Given the description of an element on the screen output the (x, y) to click on. 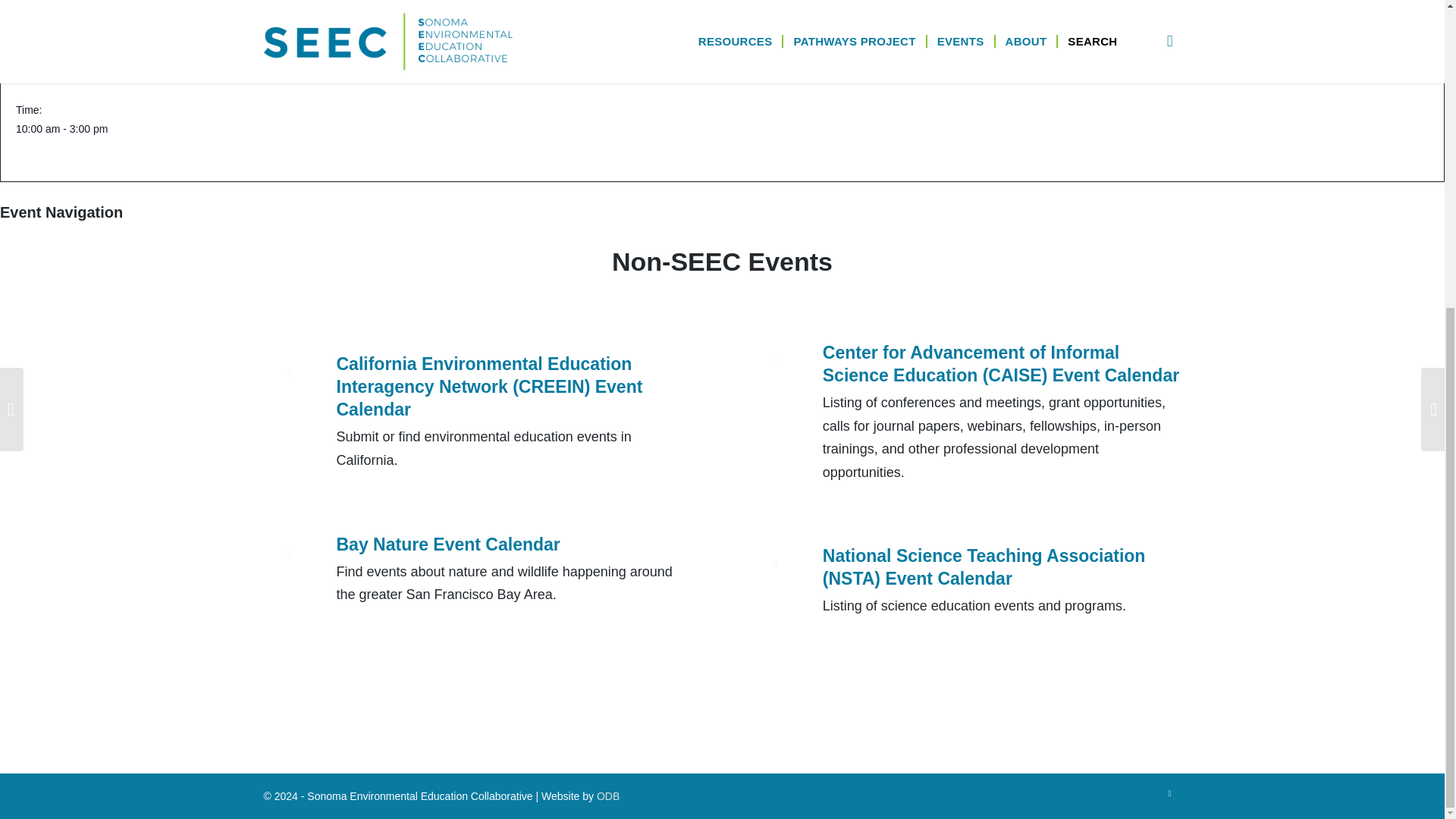
Bay Nature Event Calendar (448, 544)
Bay Nature Event Calendar (448, 544)
2023-11-27 (232, 129)
ODB (608, 796)
2023-11-27 (62, 75)
Bay Nature Event Calendar (302, 564)
